Given the description of an element on the screen output the (x, y) to click on. 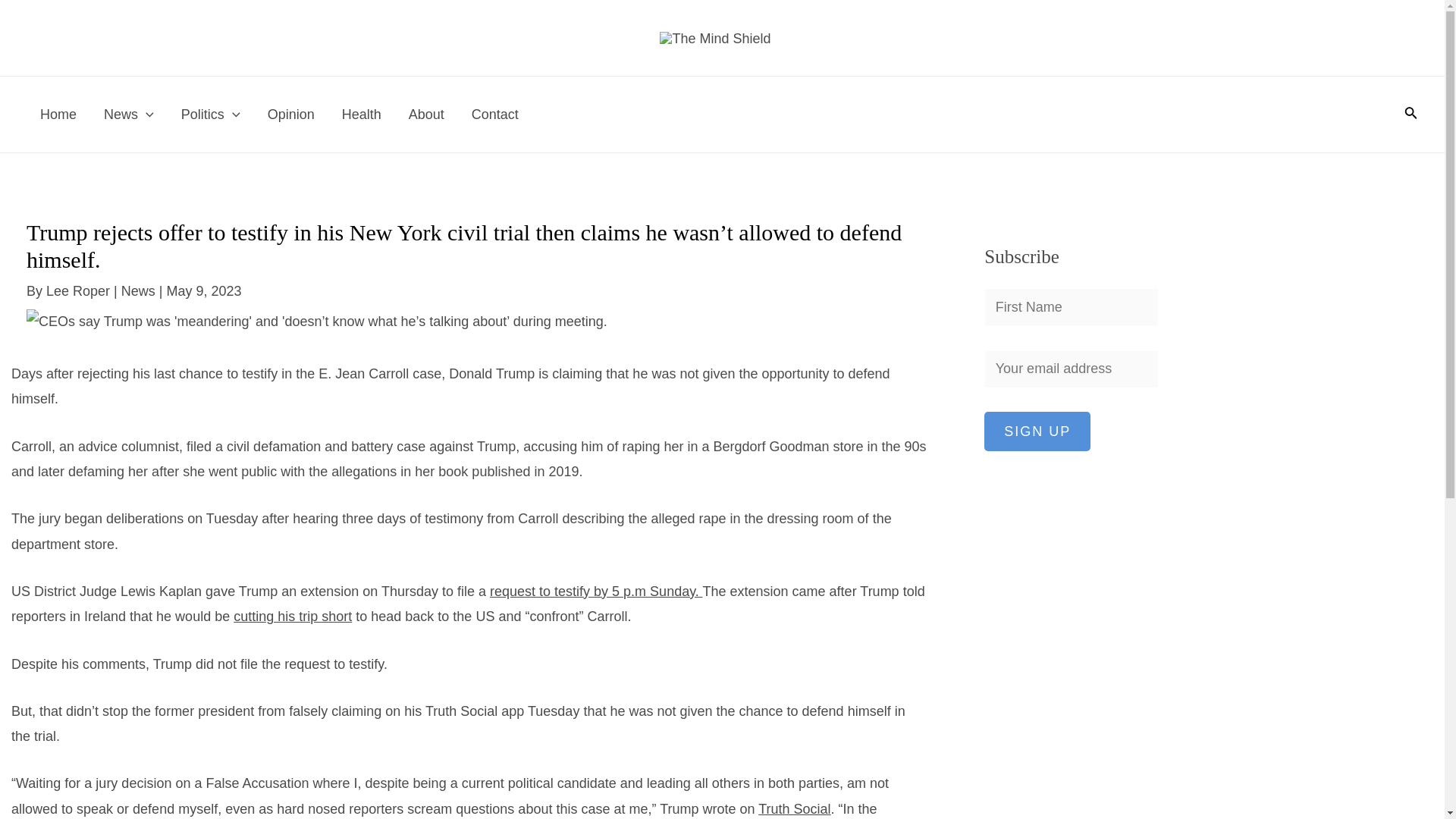
Sign up (1037, 431)
Lee Roper (79, 290)
Health (361, 114)
Sign up (1037, 431)
request to testify by 5 p.m Sunday. (596, 590)
View all posts by Lee Roper (79, 290)
News (128, 114)
News (137, 290)
Opinion (291, 114)
Contact (495, 114)
cutting his trip short (292, 616)
Truth Social (793, 808)
Home (58, 114)
About (426, 114)
Search (1411, 114)
